Given the description of an element on the screen output the (x, y) to click on. 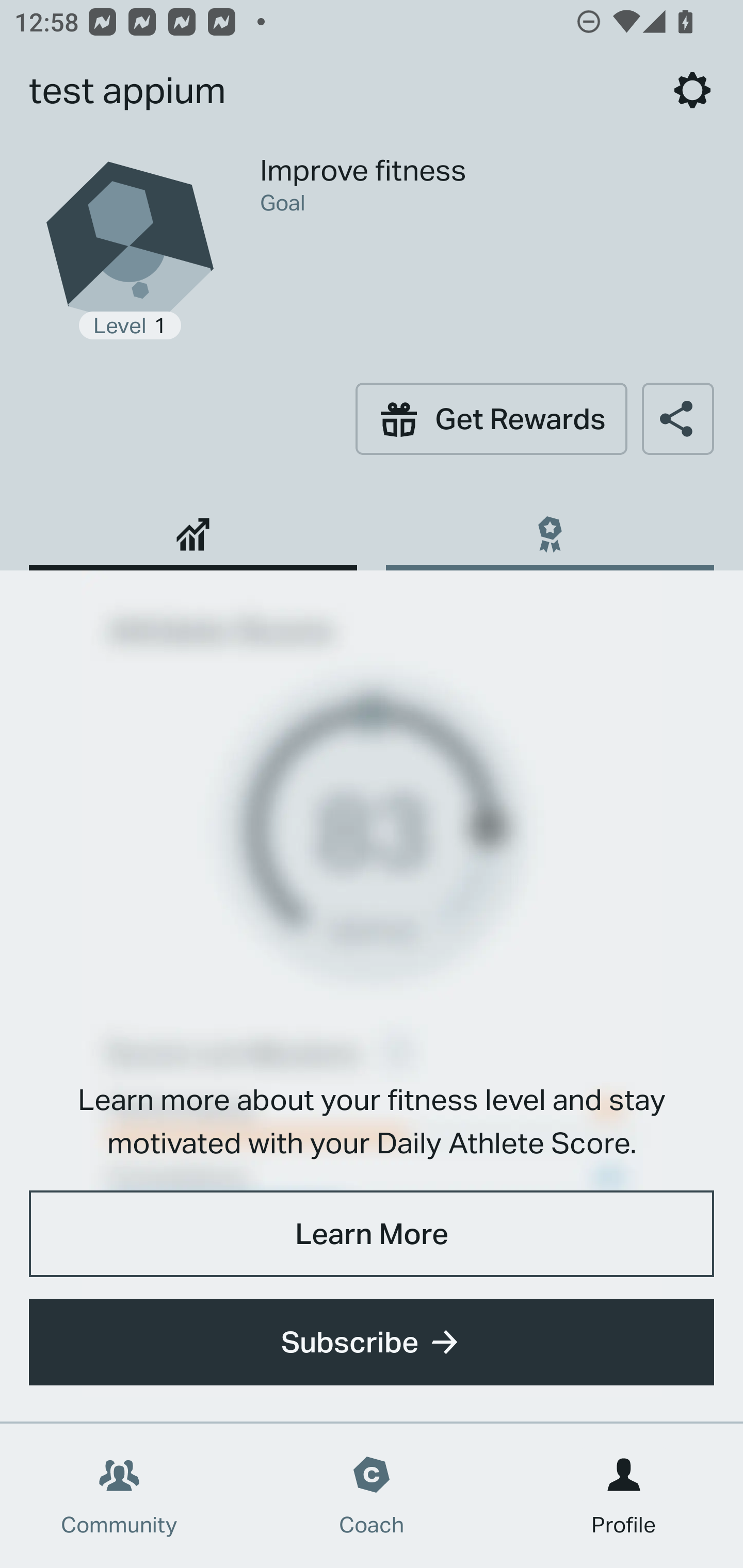
Settings (692, 90)
Get Rewards (491, 418)
Daily Athlete Score (192, 527)
Hall of Fame (549, 527)
Learn More (371, 1233)
Subscribe (371, 1342)
Community (119, 1495)
Coach (371, 1495)
